Given the description of an element on the screen output the (x, y) to click on. 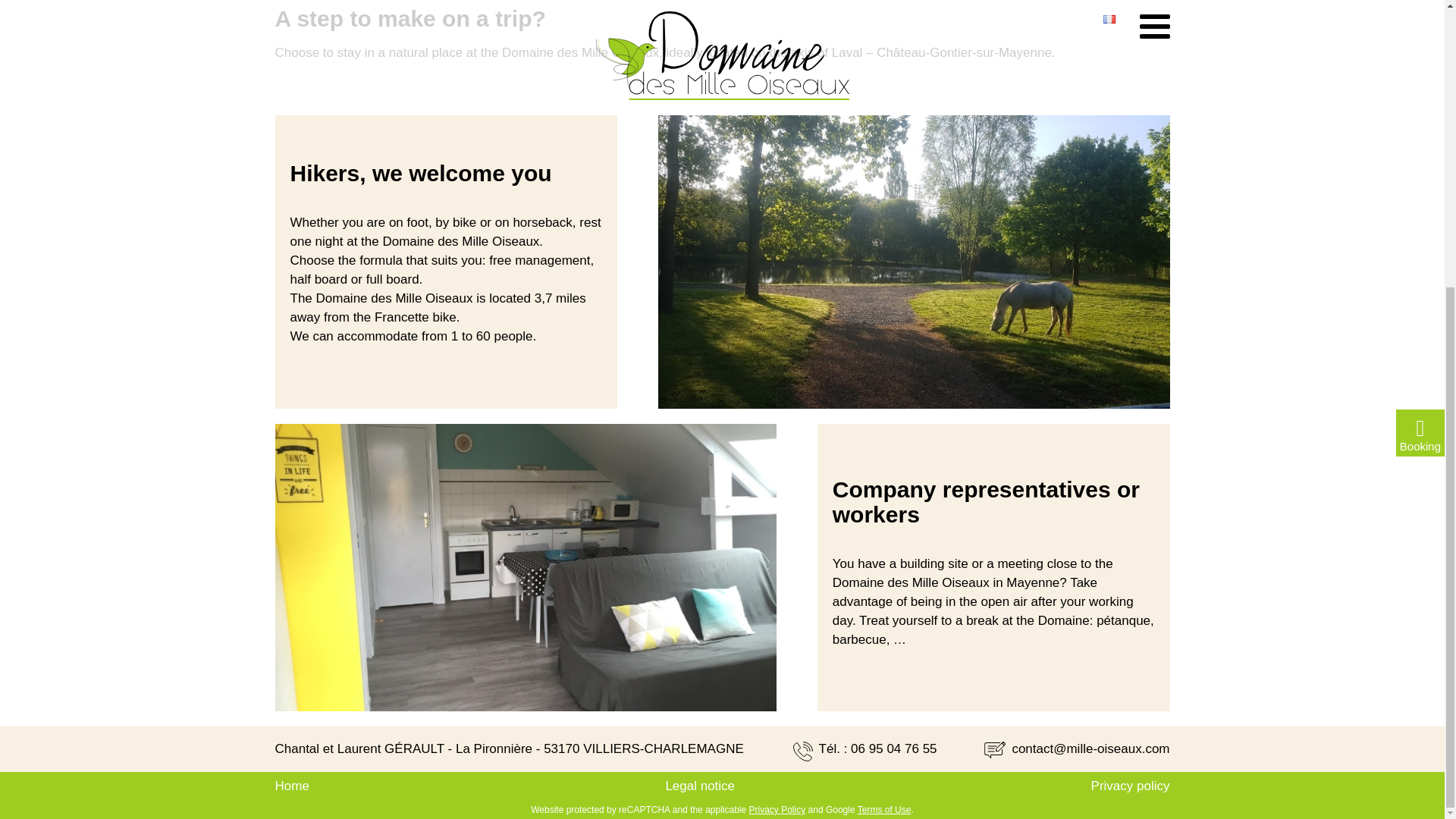
Home (291, 785)
Privacy policy (1130, 785)
Legal notice (700, 785)
Terms of Use (884, 809)
Privacy Policy (777, 809)
